Given the description of an element on the screen output the (x, y) to click on. 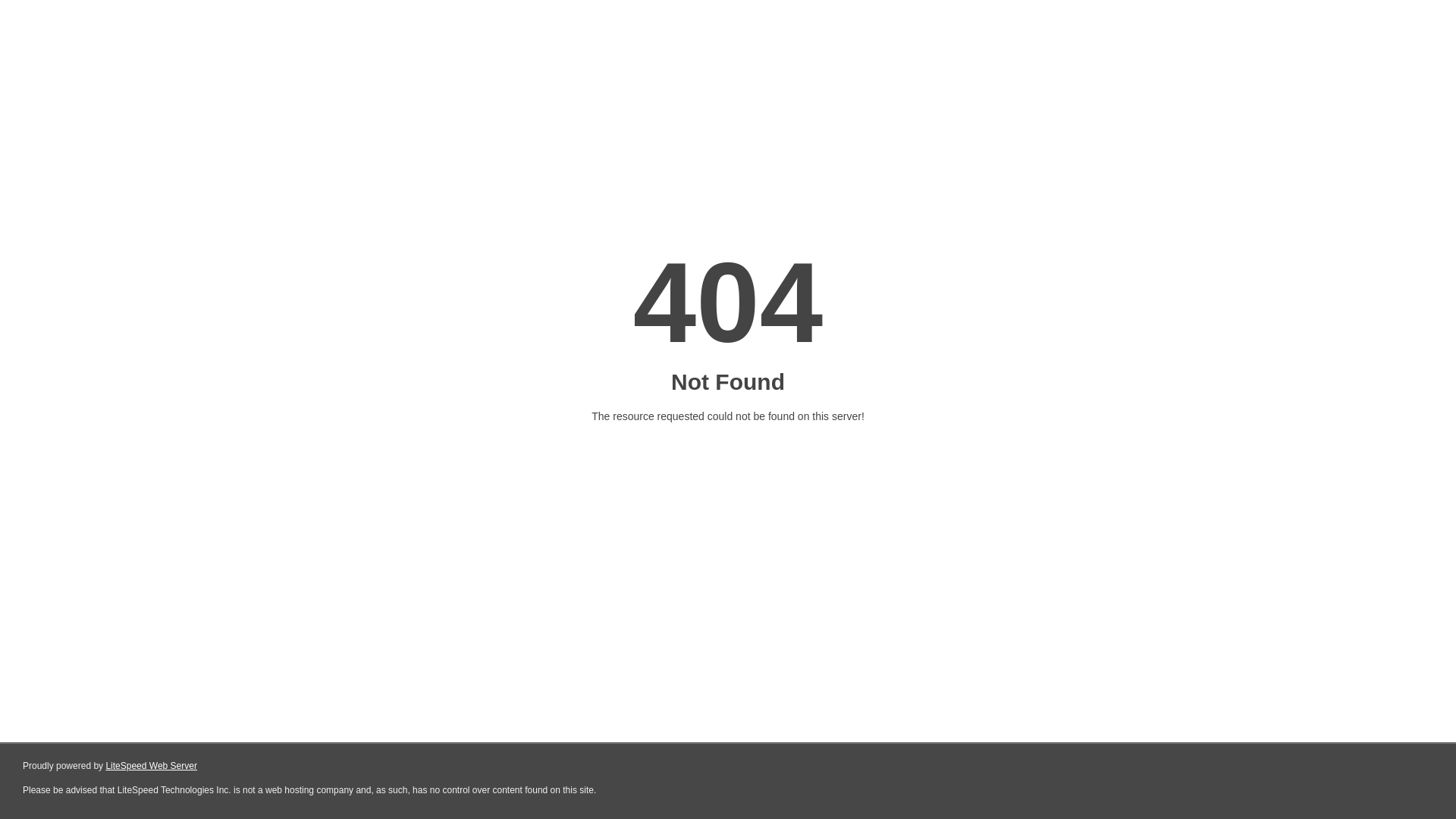
LiteSpeed Web Server Element type: text (151, 765)
